Given the description of an element on the screen output the (x, y) to click on. 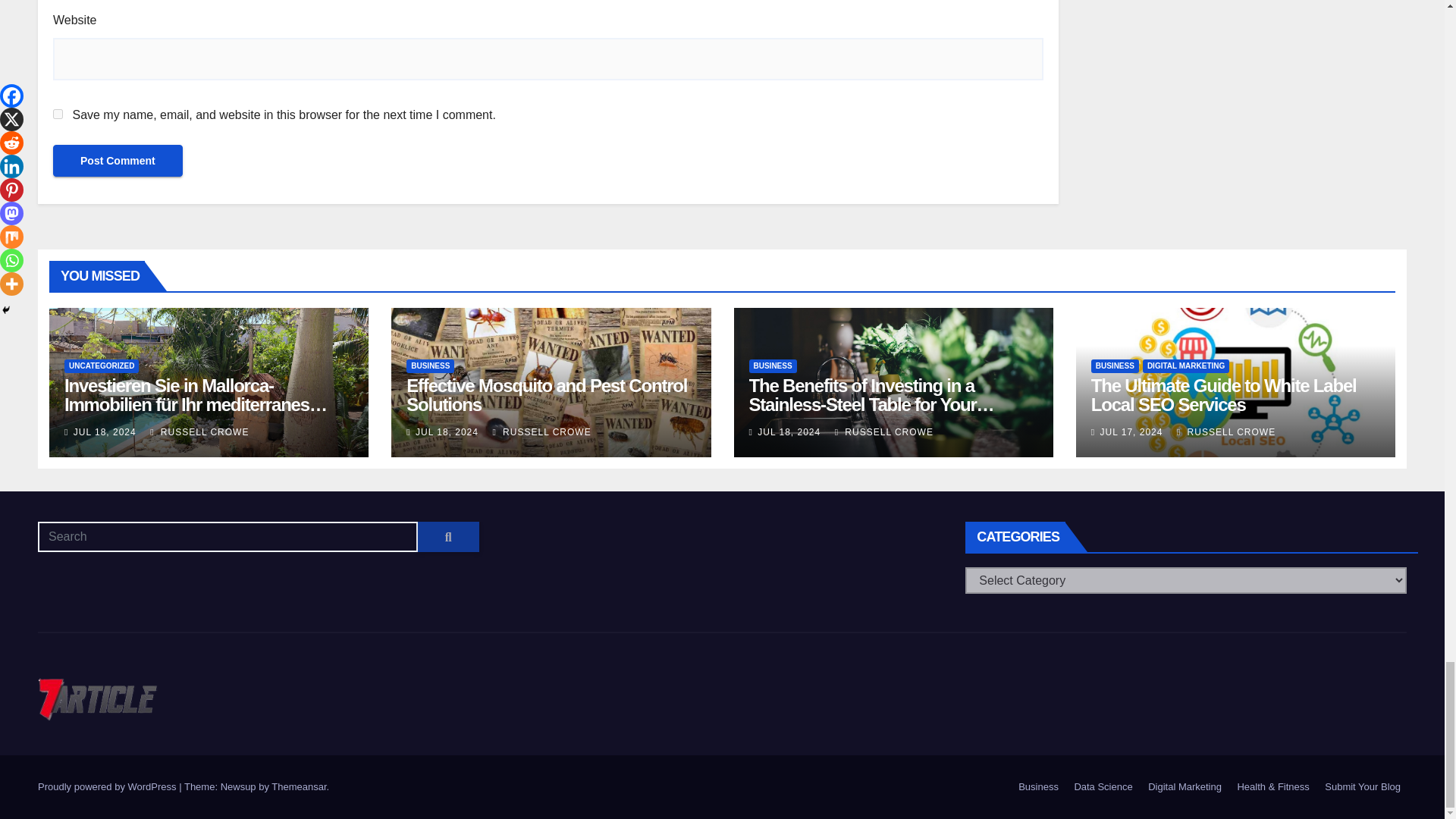
Post Comment (117, 160)
yes (57, 113)
